Given the description of an element on the screen output the (x, y) to click on. 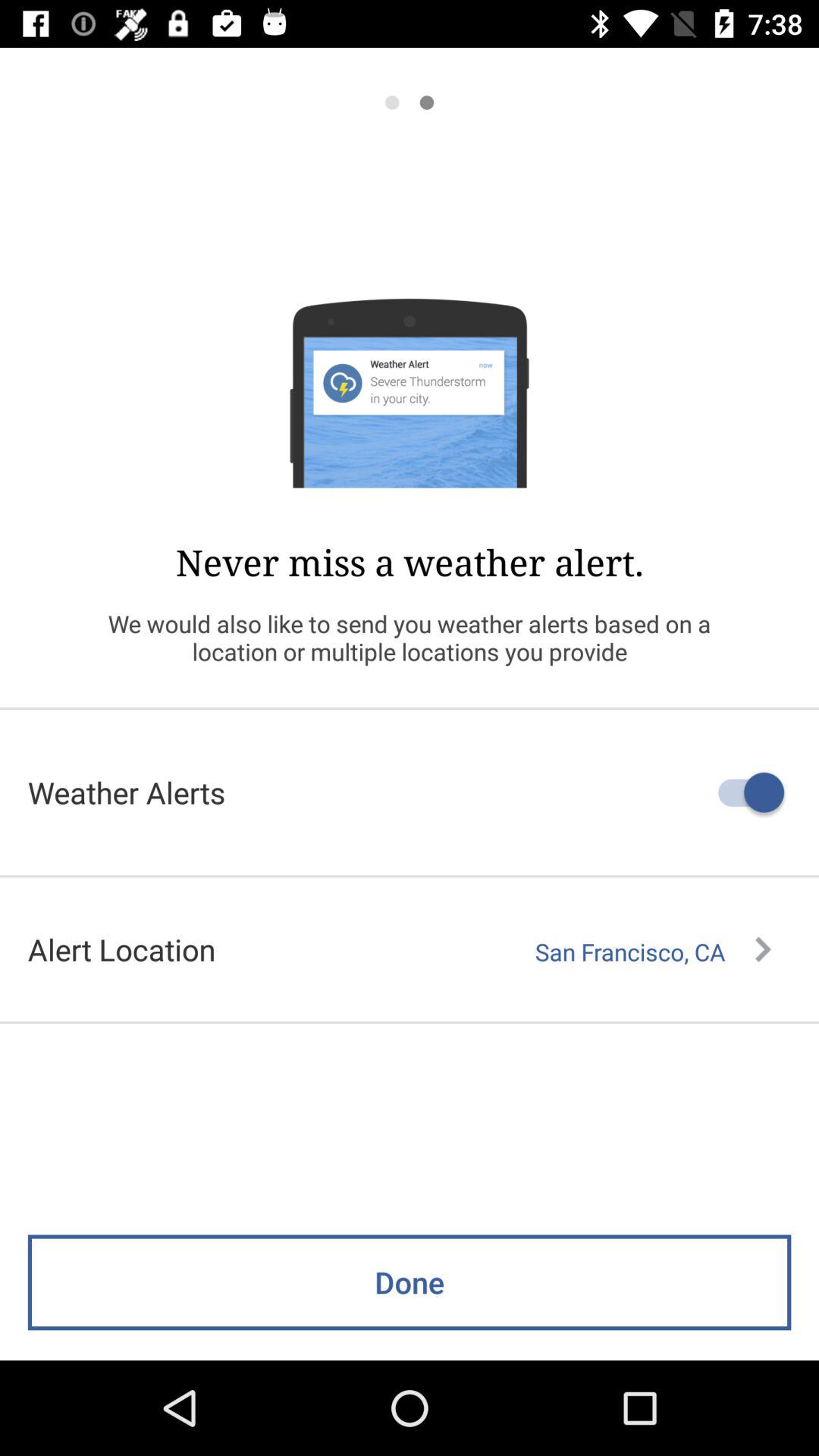
open the done icon (409, 1282)
